Given the description of an element on the screen output the (x, y) to click on. 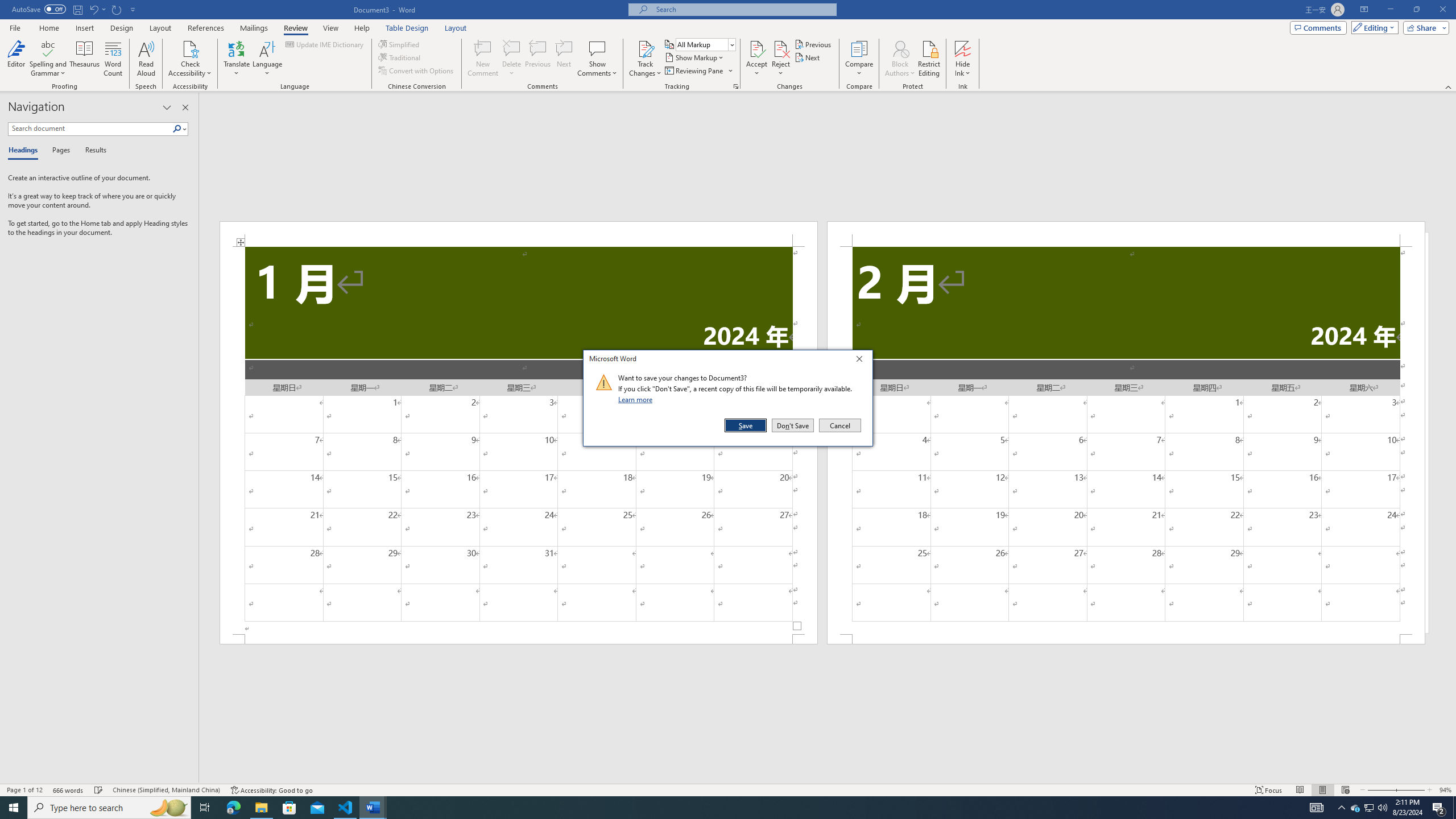
Word Count 666 words (68, 790)
Check Accessibility (189, 58)
Change Tracking Options... (735, 85)
Update IME Dictionary... (324, 44)
Display for Review (705, 44)
